Given the description of an element on the screen output the (x, y) to click on. 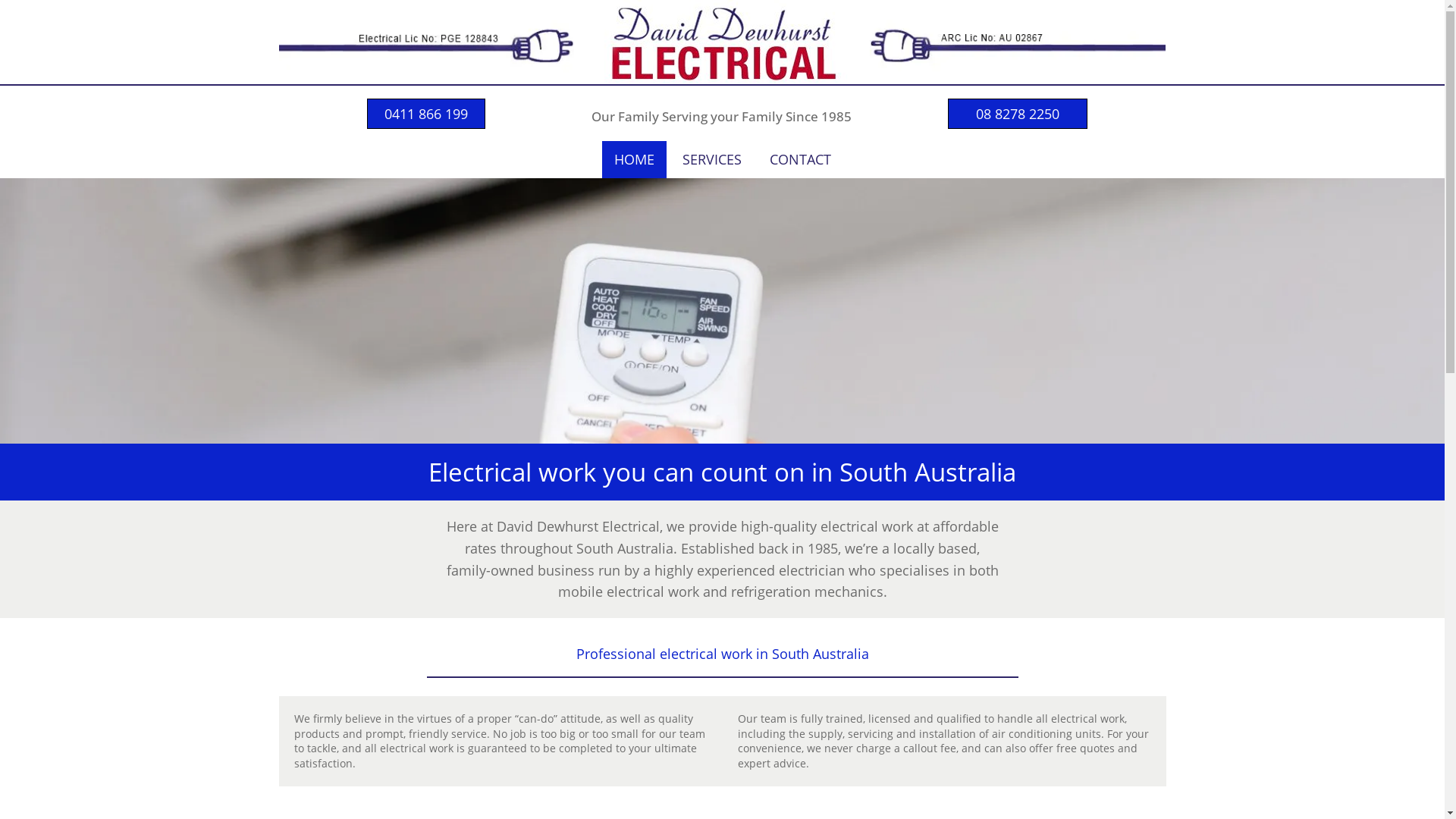
SERVICES Element type: text (711, 159)
david dewhurst electrical licence number     Element type: hover (426, 40)
david dewhurst electrical arc licence number     Element type: hover (1017, 39)
david dewhurst electrical business logo     Element type: hover (722, 42)
CONTACT Element type: text (799, 159)
HOME Element type: text (634, 159)
